Given the description of an element on the screen output the (x, y) to click on. 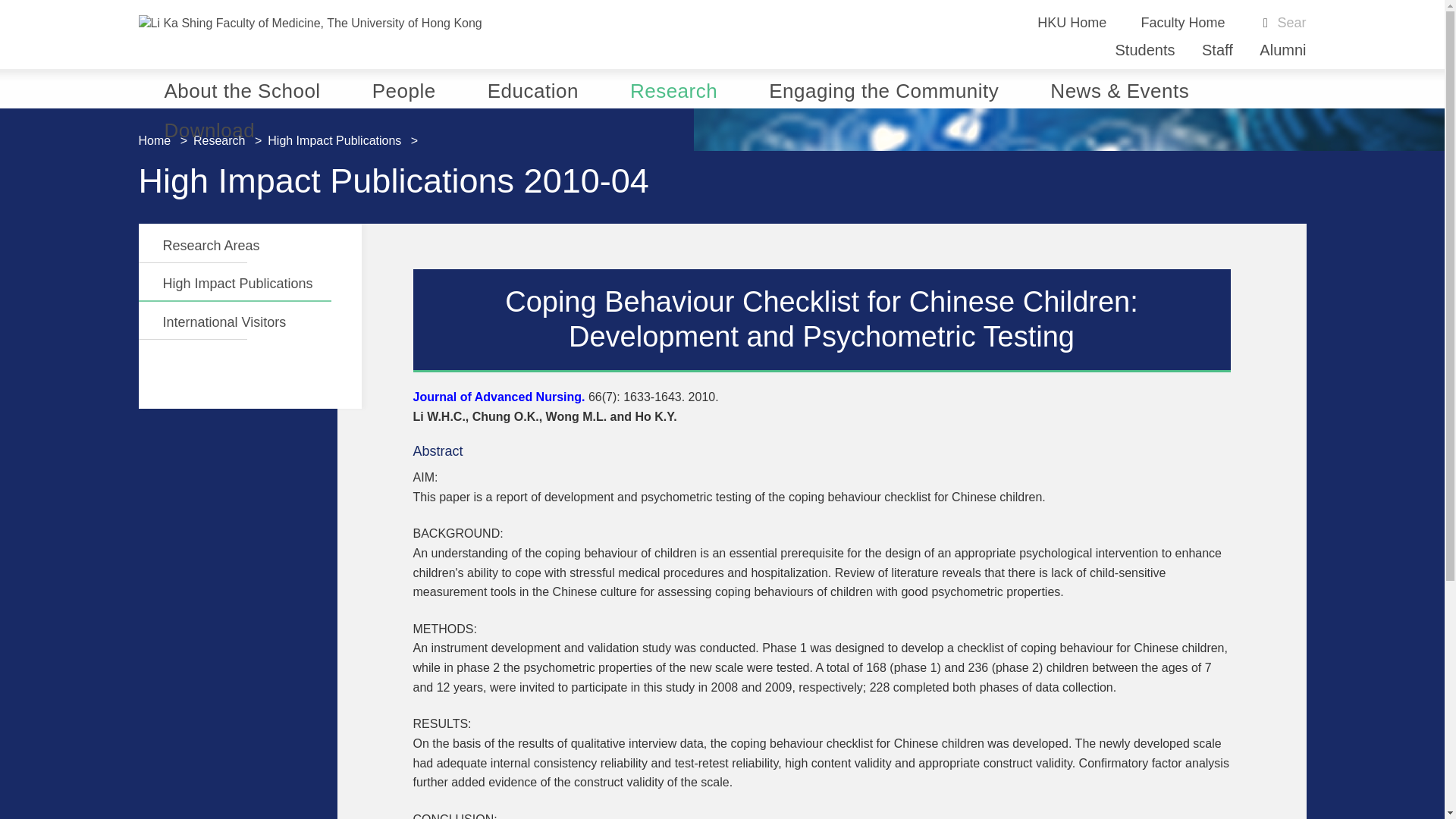
About the School (242, 88)
People (403, 88)
Education (532, 88)
Faculty Home (1182, 22)
Search (1291, 23)
Staff (1217, 49)
HKU Home (1071, 22)
Alumni (1282, 49)
Students (1144, 49)
